Given the description of an element on the screen output the (x, y) to click on. 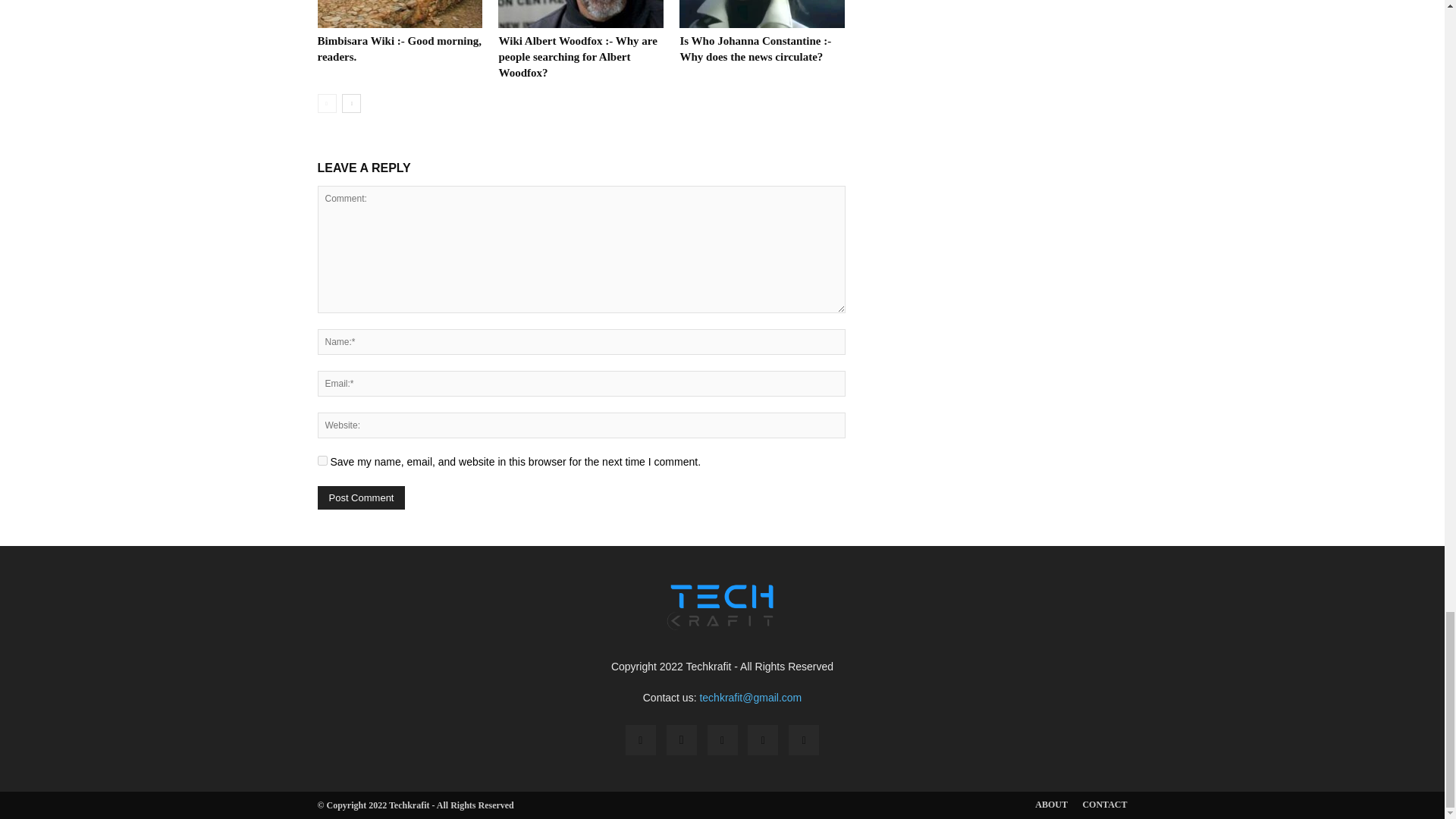
Bimbisara Wiki :- Good morning, readers. (399, 49)
Post Comment (360, 497)
yes (321, 460)
Bimbisara Wiki :- Good morning, readers. (399, 13)
